Given the description of an element on the screen output the (x, y) to click on. 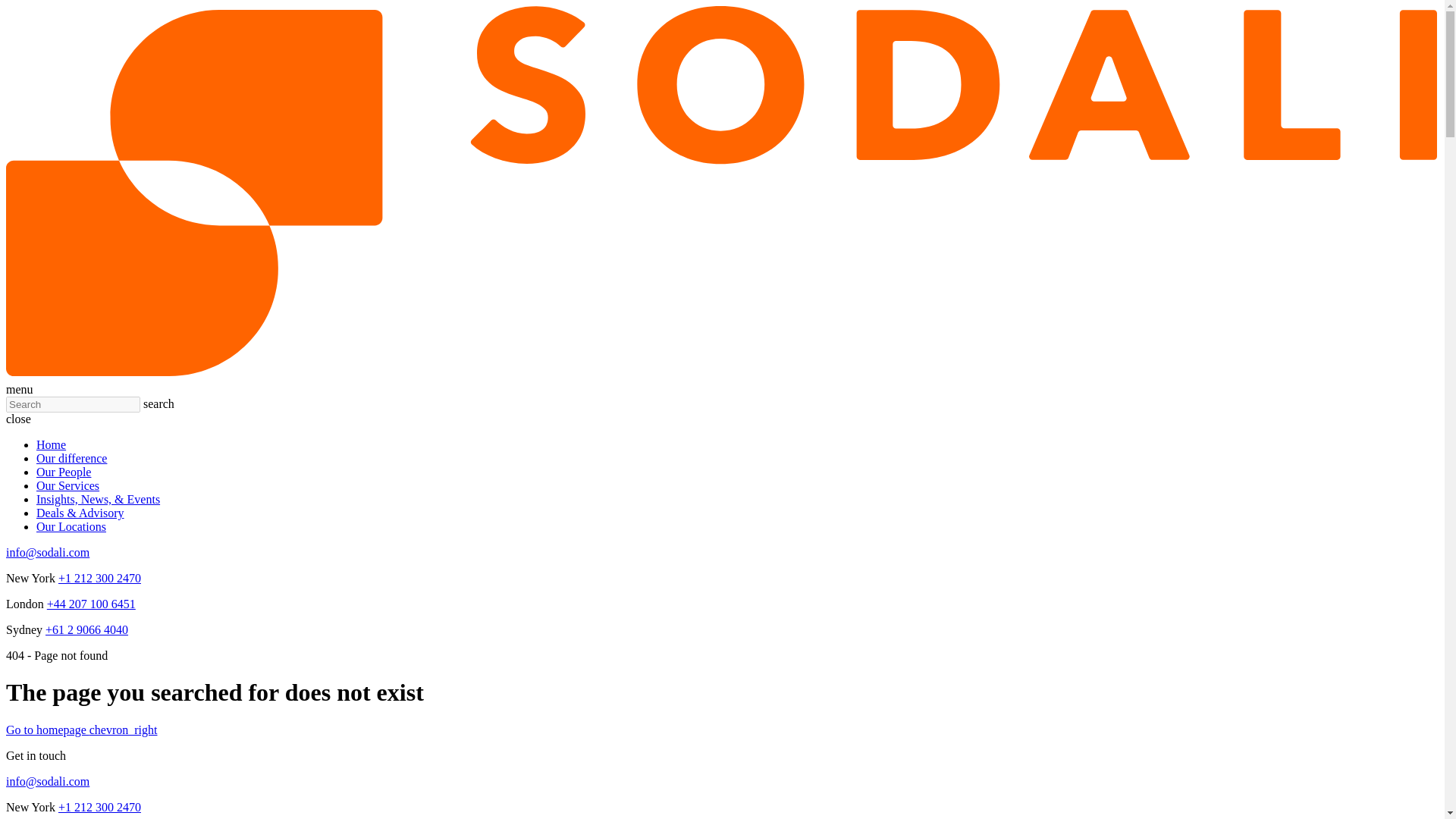
Home (50, 444)
Our Services (67, 485)
Our People (63, 472)
Our Locations (71, 526)
Our difference (71, 458)
